Given the description of an element on the screen output the (x, y) to click on. 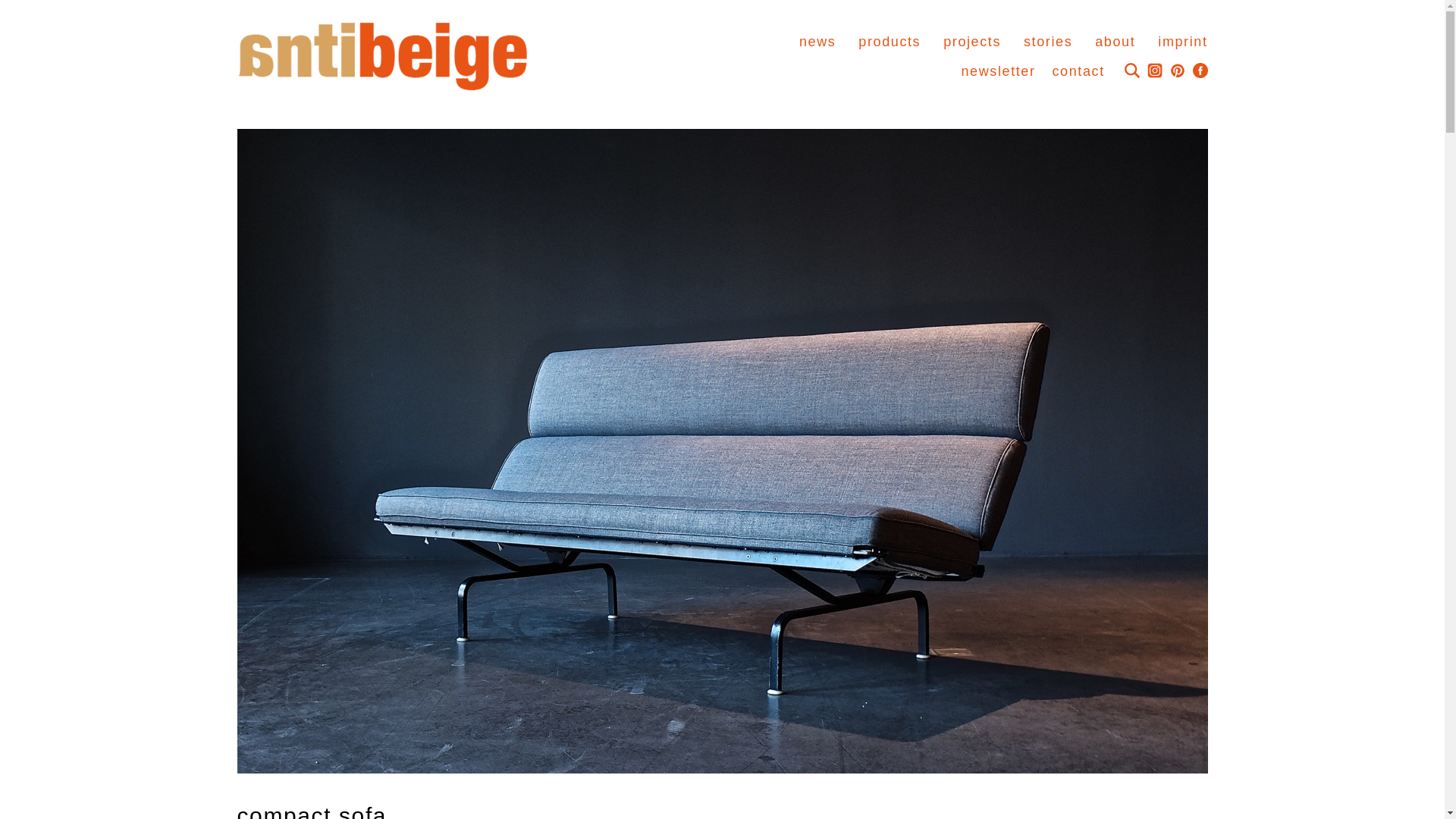
about (1114, 41)
projects (972, 41)
Facebook (1196, 69)
imprint (1182, 41)
contact (1078, 70)
Imprint (1182, 41)
Products (889, 41)
products (889, 41)
news (817, 41)
stories (1047, 41)
